Given the description of an element on the screen output the (x, y) to click on. 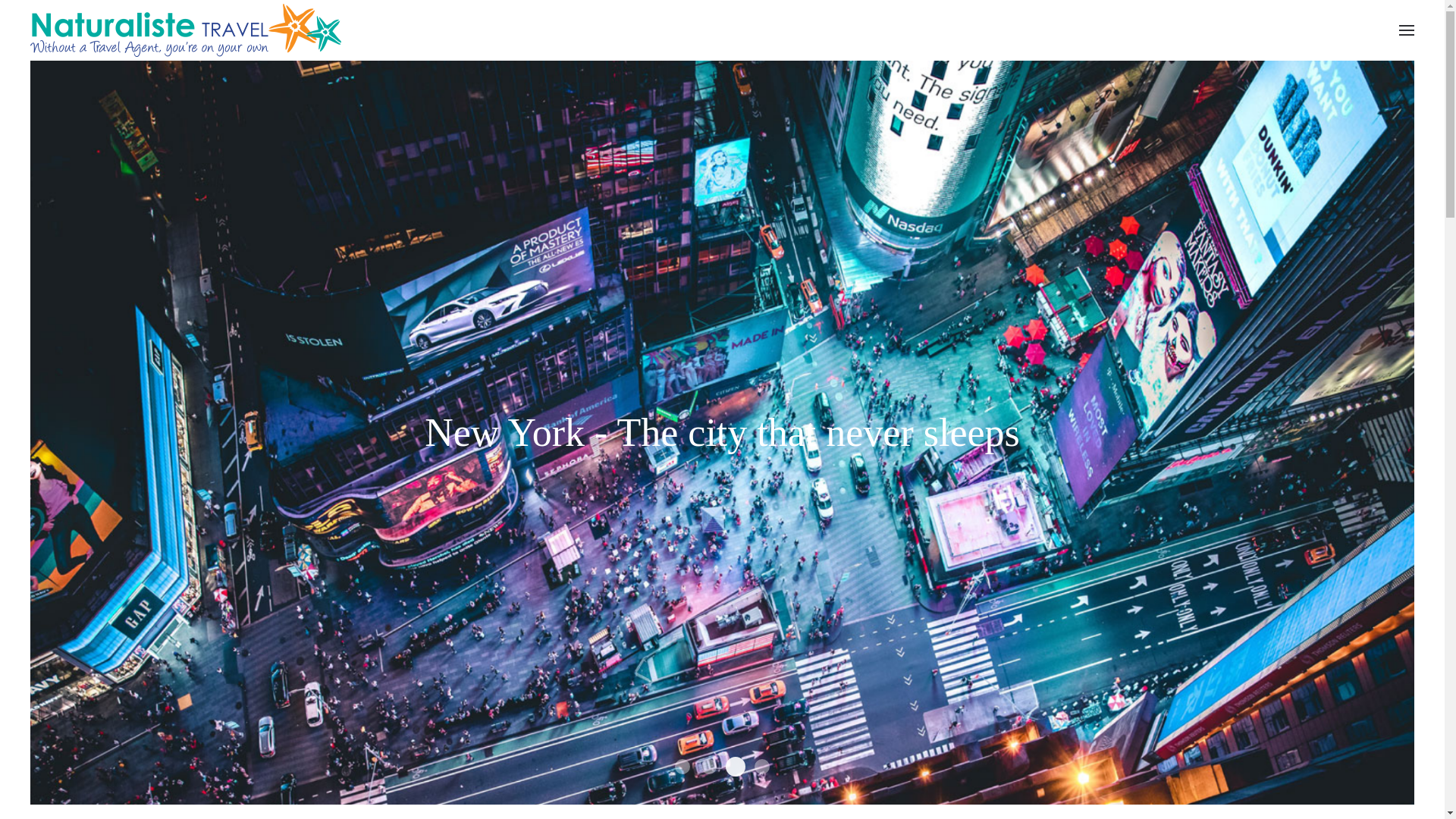
At Naturaliste Travel we love to travel the world. Element type: text (682, 766)
New York - The city that never sleeps Element type: text (732, 763)
Canada will take your breath away Element type: text (708, 766)
Capri - The island of love Element type: text (761, 766)
